Given the description of an element on the screen output the (x, y) to click on. 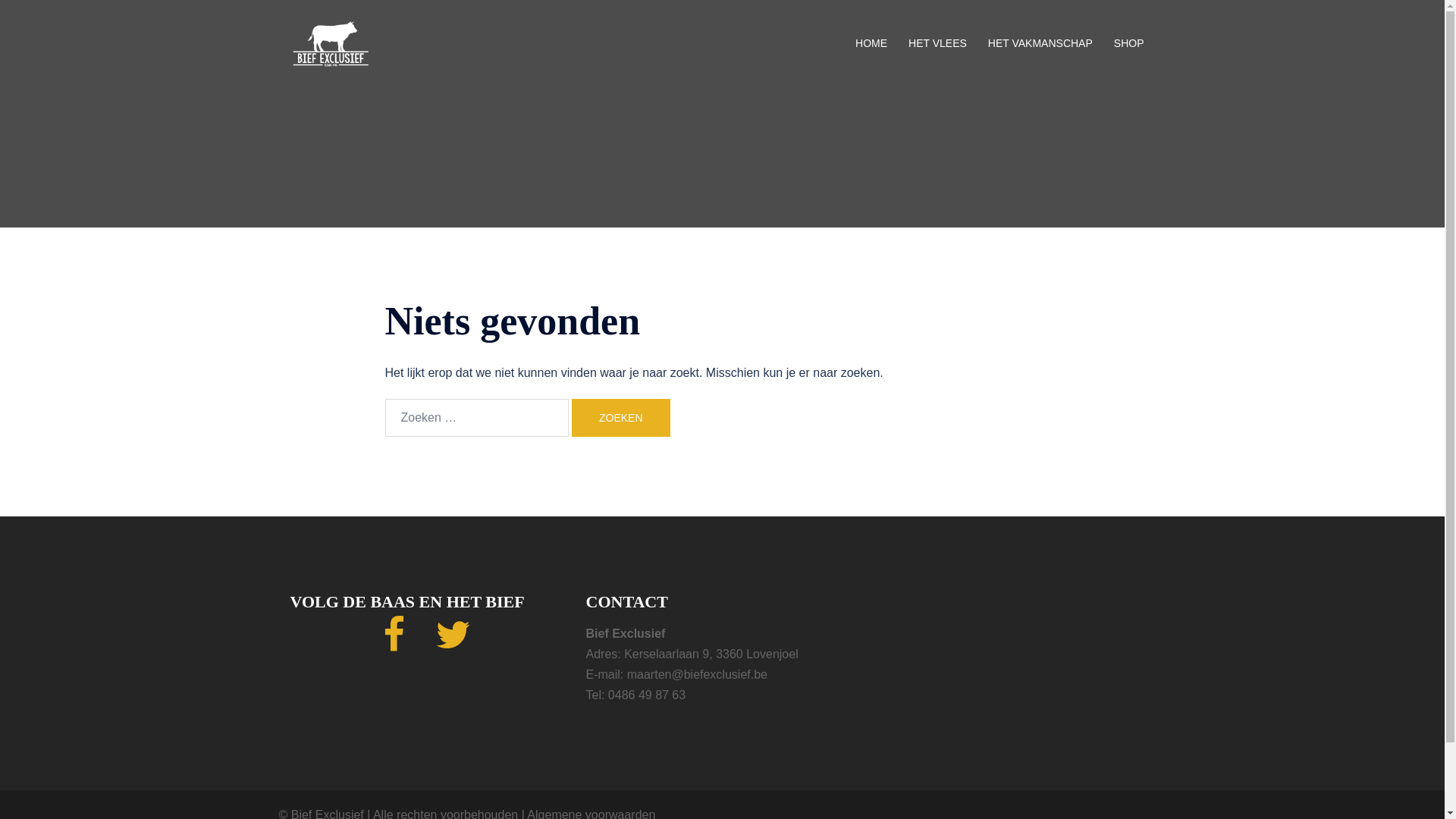
HET VAKMANSCHAP Element type: text (1040, 43)
twitter Element type: text (452, 643)
SHOP Element type: text (1128, 43)
HOME Element type: text (871, 43)
maarten@biefexclusief.be Element type: text (697, 674)
HET VLEES Element type: text (937, 43)
Bief Exclusief Element type: hover (329, 42)
facebook Element type: text (393, 643)
Zoeken Element type: text (620, 417)
